Given the description of an element on the screen output the (x, y) to click on. 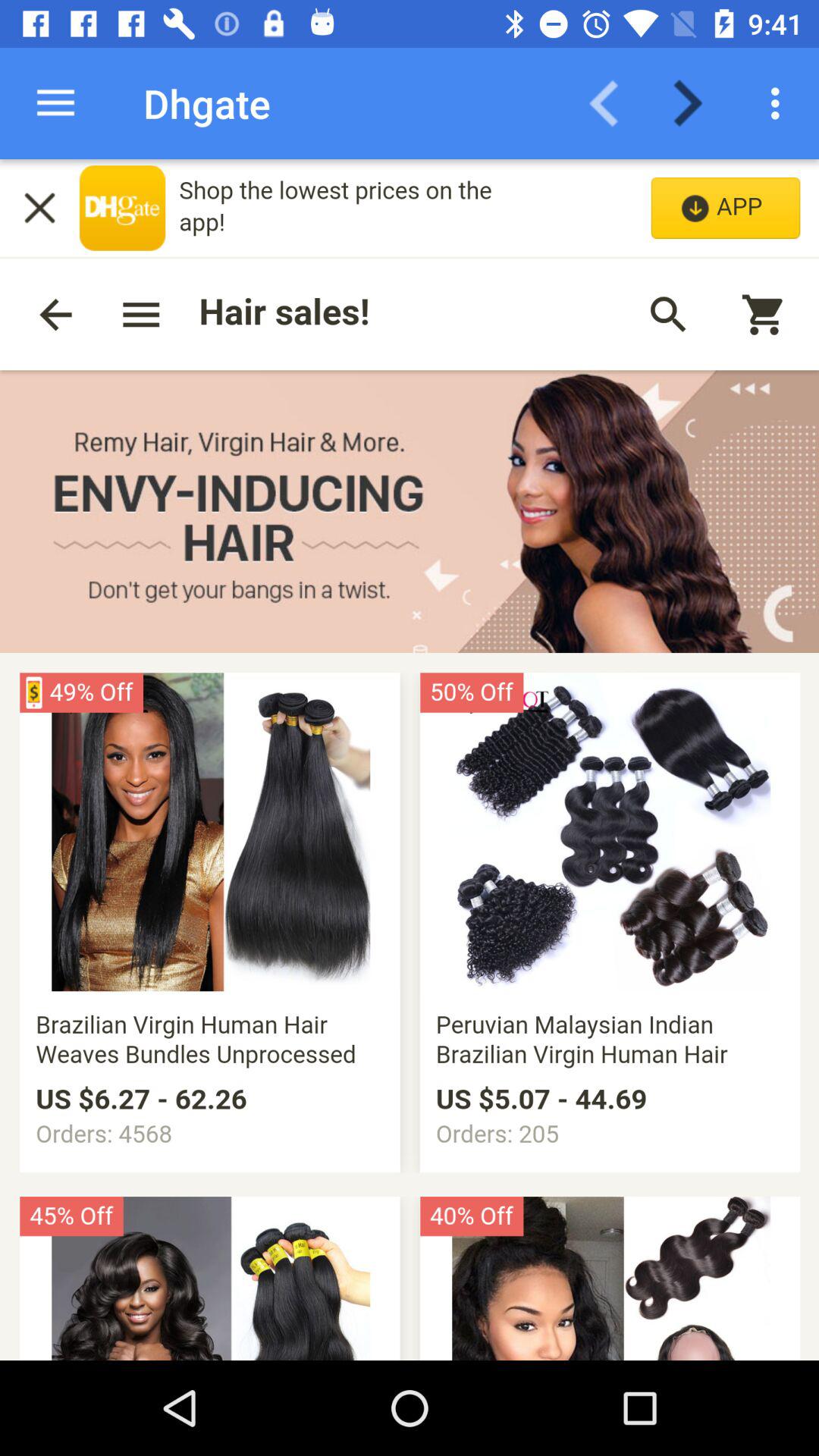
go forward (697, 103)
